Given the description of an element on the screen output the (x, y) to click on. 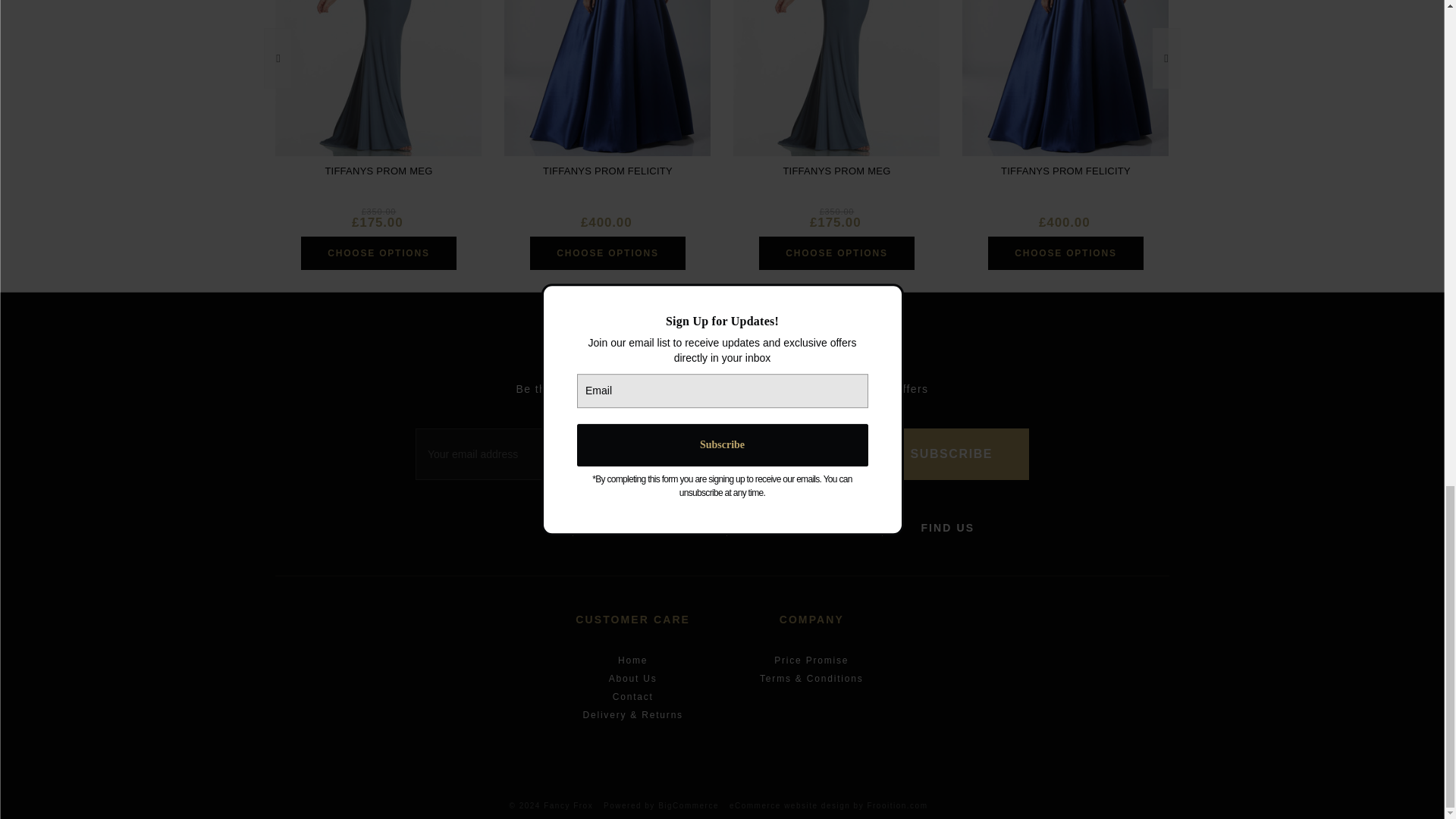
Subscribe (951, 453)
